Given the description of an element on the screen output the (x, y) to click on. 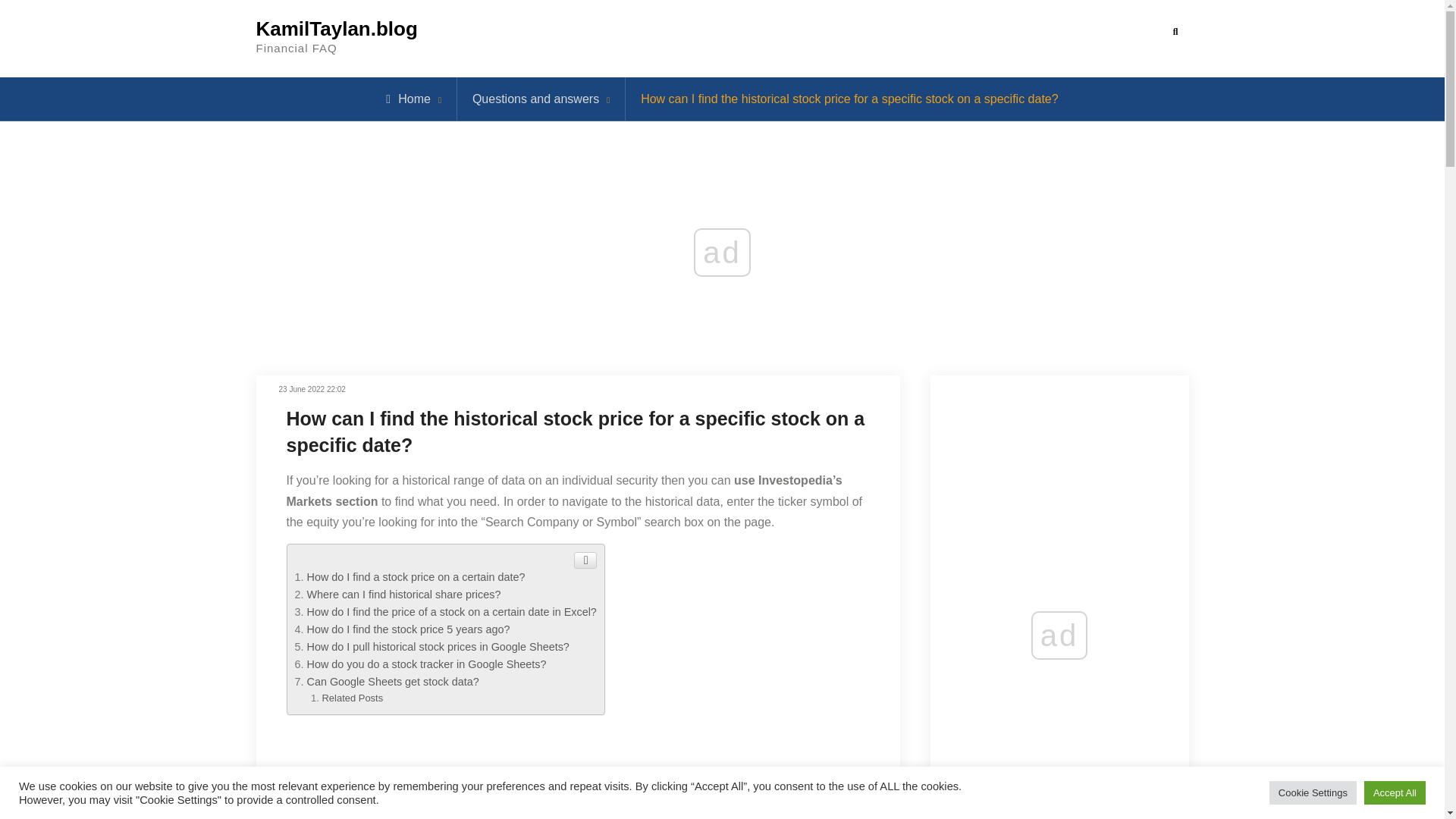
Questions and answers (534, 98)
How do I find a stock price on a certain date? (414, 576)
Where can I find historical share prices? (402, 594)
How do I find the stock price 5 years ago? (407, 629)
KamilTaylan.blog (336, 28)
Home (407, 98)
Can Google Sheets get stock data? (392, 681)
Where can I find historical share prices? (402, 594)
How do I find a stock price on a certain date? (414, 576)
Related Posts (351, 697)
